Given the description of an element on the screen output the (x, y) to click on. 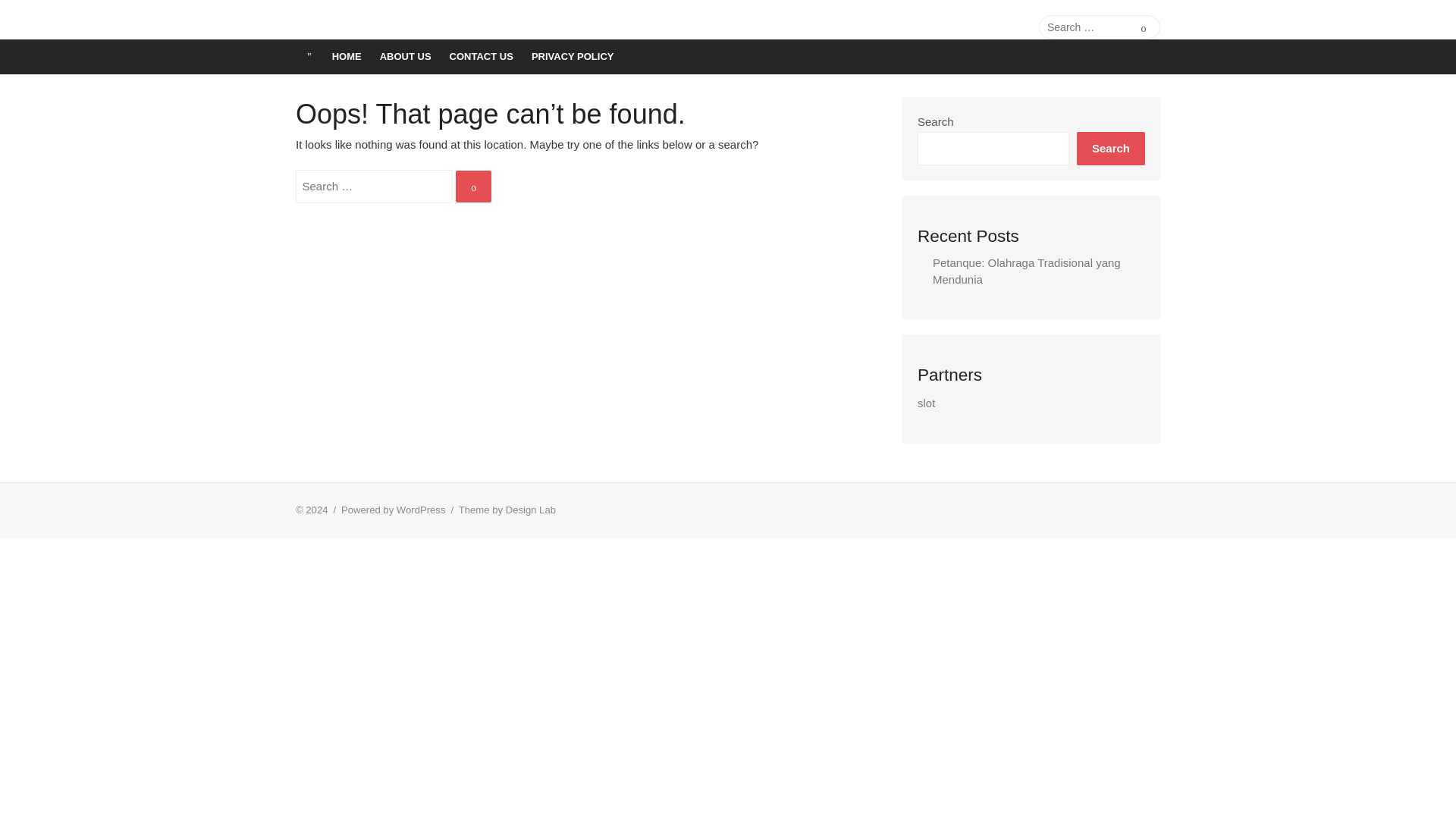
ABOUT US (406, 56)
Petanque: Olahraga Tradisional yang Mendunia (1027, 271)
HOME (347, 56)
Search (473, 186)
Search (1143, 27)
CONTACT US (481, 56)
Powered by WordPress (392, 509)
slot (925, 402)
Search (1110, 147)
Theme by Design Lab (507, 509)
